Given the description of an element on the screen output the (x, y) to click on. 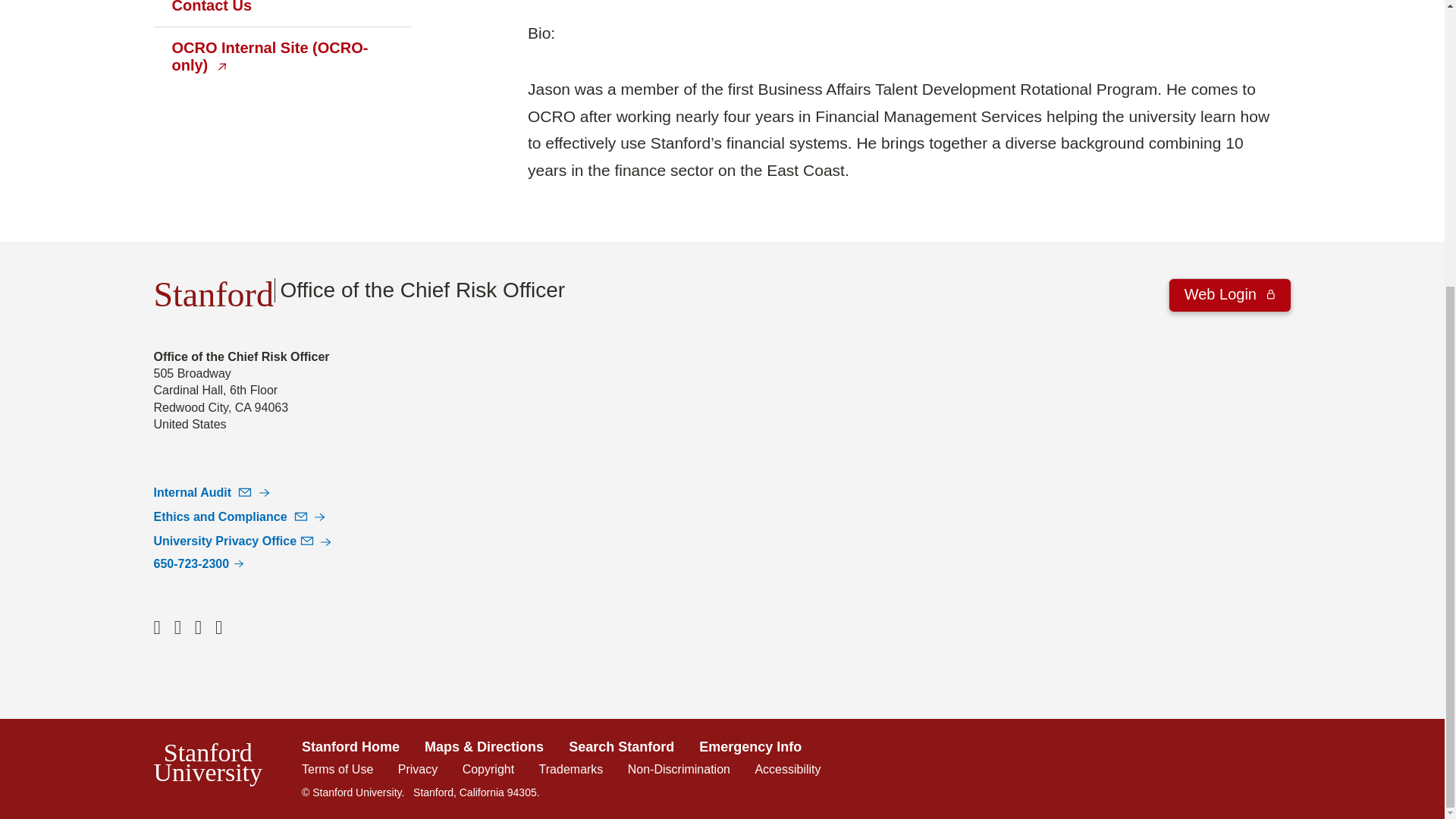
Report alleged copyright infringement (488, 768)
Report web accessibility issues (787, 768)
Ownership and use of Stanford trademarks and images (571, 768)
Privacy and cookie policy (417, 768)
Non-discrimination policy (678, 768)
Terms of use for sites (336, 768)
